Given the description of an element on the screen output the (x, y) to click on. 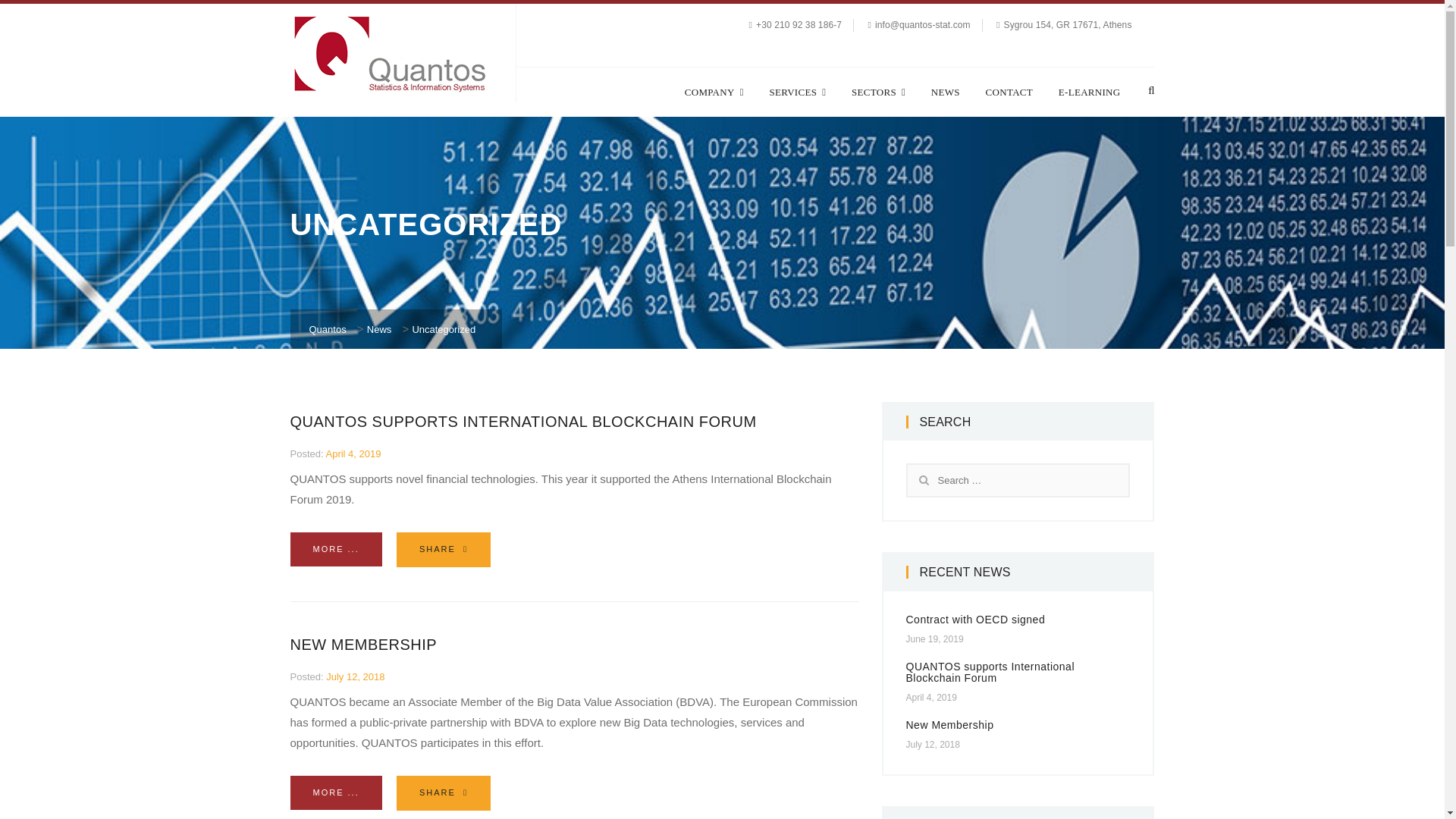
Share on Facebook (443, 792)
SECTORS (878, 91)
MORE ... (335, 792)
QUANTOS SUPPORTS INTERNATIONAL BLOCKCHAIN FORUM (522, 421)
NEWS (945, 91)
Share on Facebook (443, 549)
Quantos (327, 328)
Go to News. (378, 328)
QUANTOS supports International Blockchain Forum (522, 421)
SHARE (443, 792)
COMPANY (714, 91)
E-LEARNING (1089, 91)
New Membership (362, 644)
SERVICES (796, 91)
SHARE (443, 549)
